Given the description of an element on the screen output the (x, y) to click on. 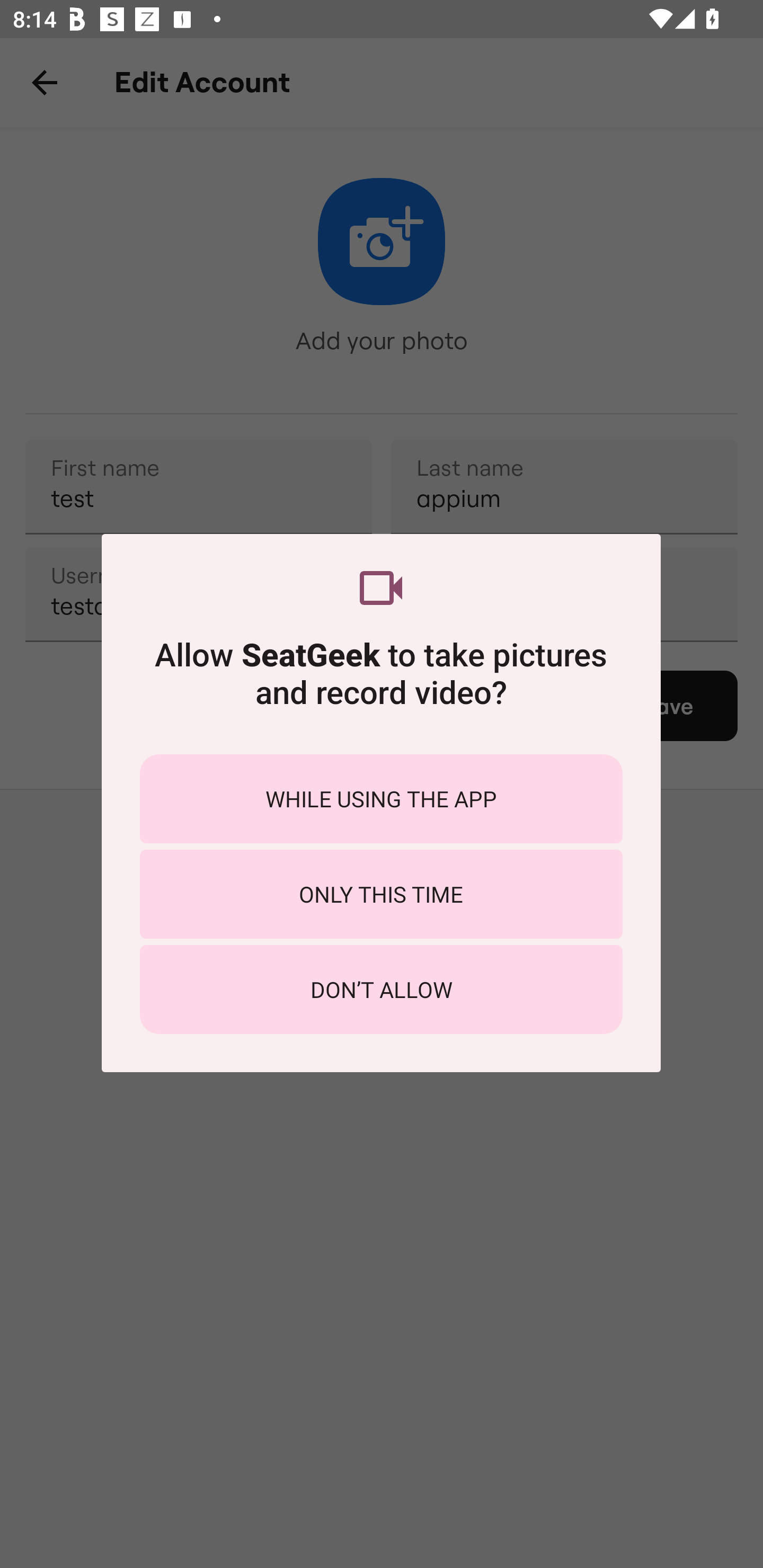
WHILE USING THE APP (380, 798)
ONLY THIS TIME (380, 894)
DON’T ALLOW (380, 989)
